Given the description of an element on the screen output the (x, y) to click on. 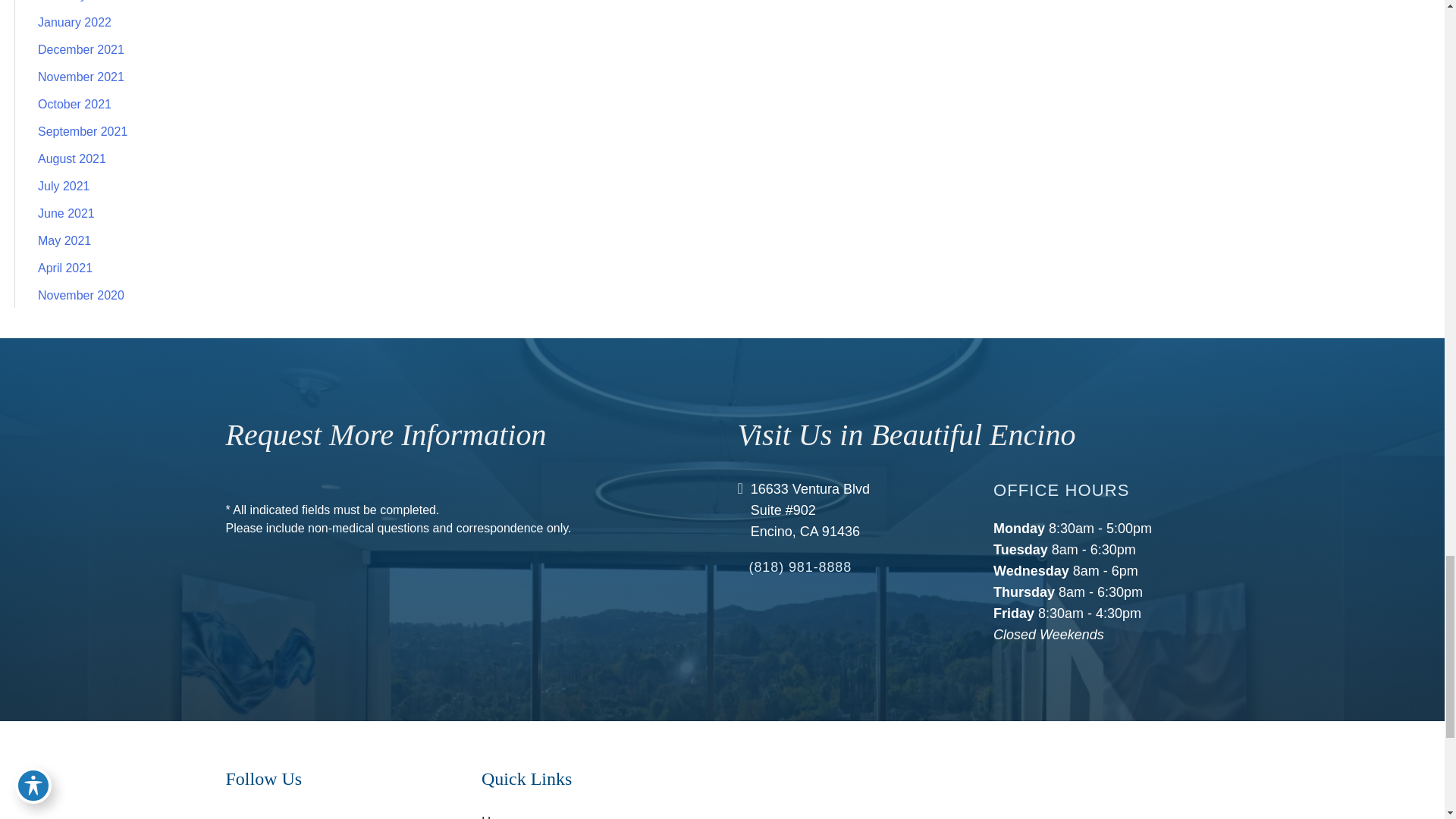
Learn more about this location (810, 509)
